Given the description of an element on the screen output the (x, y) to click on. 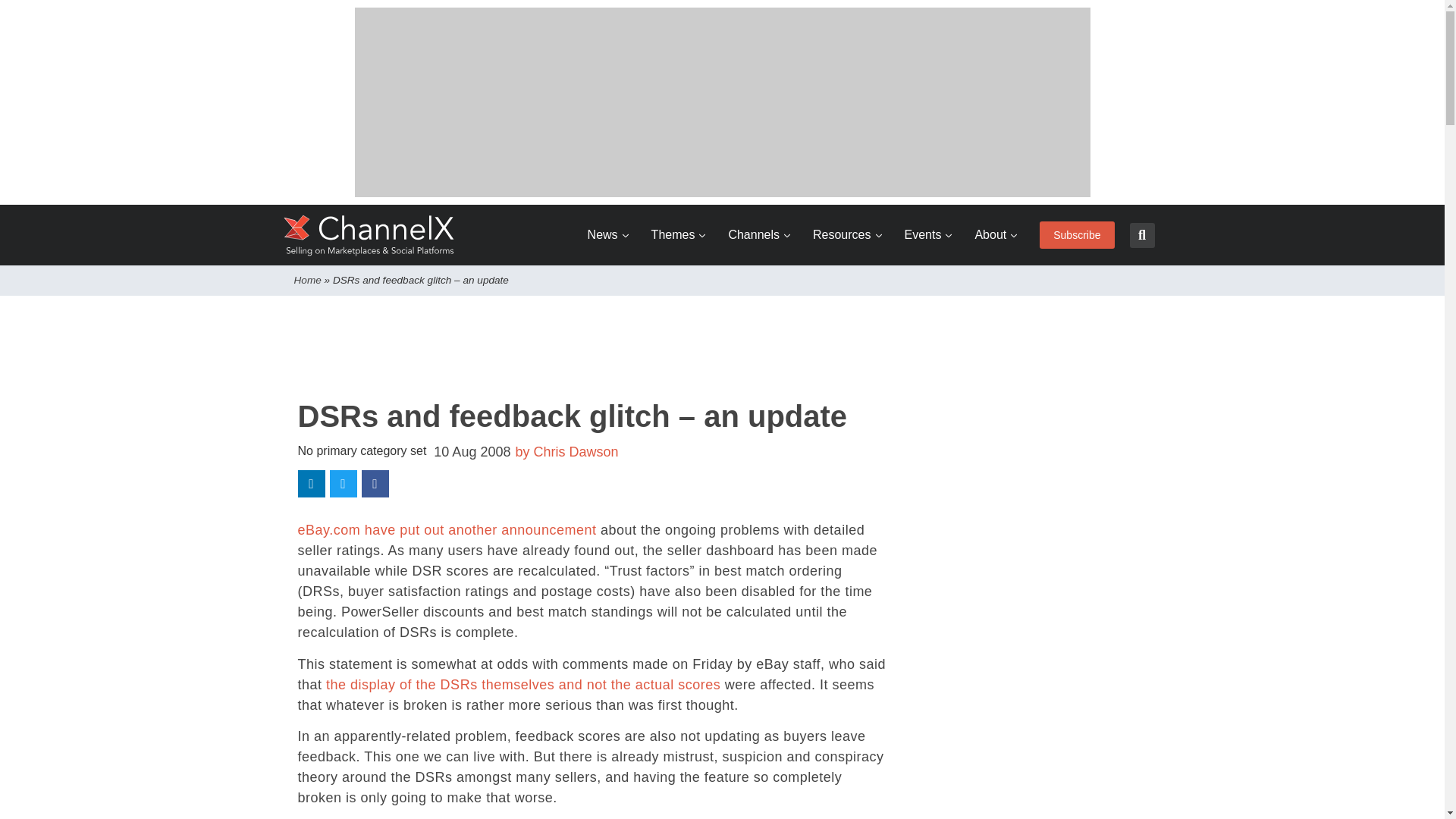
News (607, 234)
Resources (846, 234)
ChannelX Home Page (369, 234)
Channels (758, 234)
Themes (678, 234)
